Given the description of an element on the screen output the (x, y) to click on. 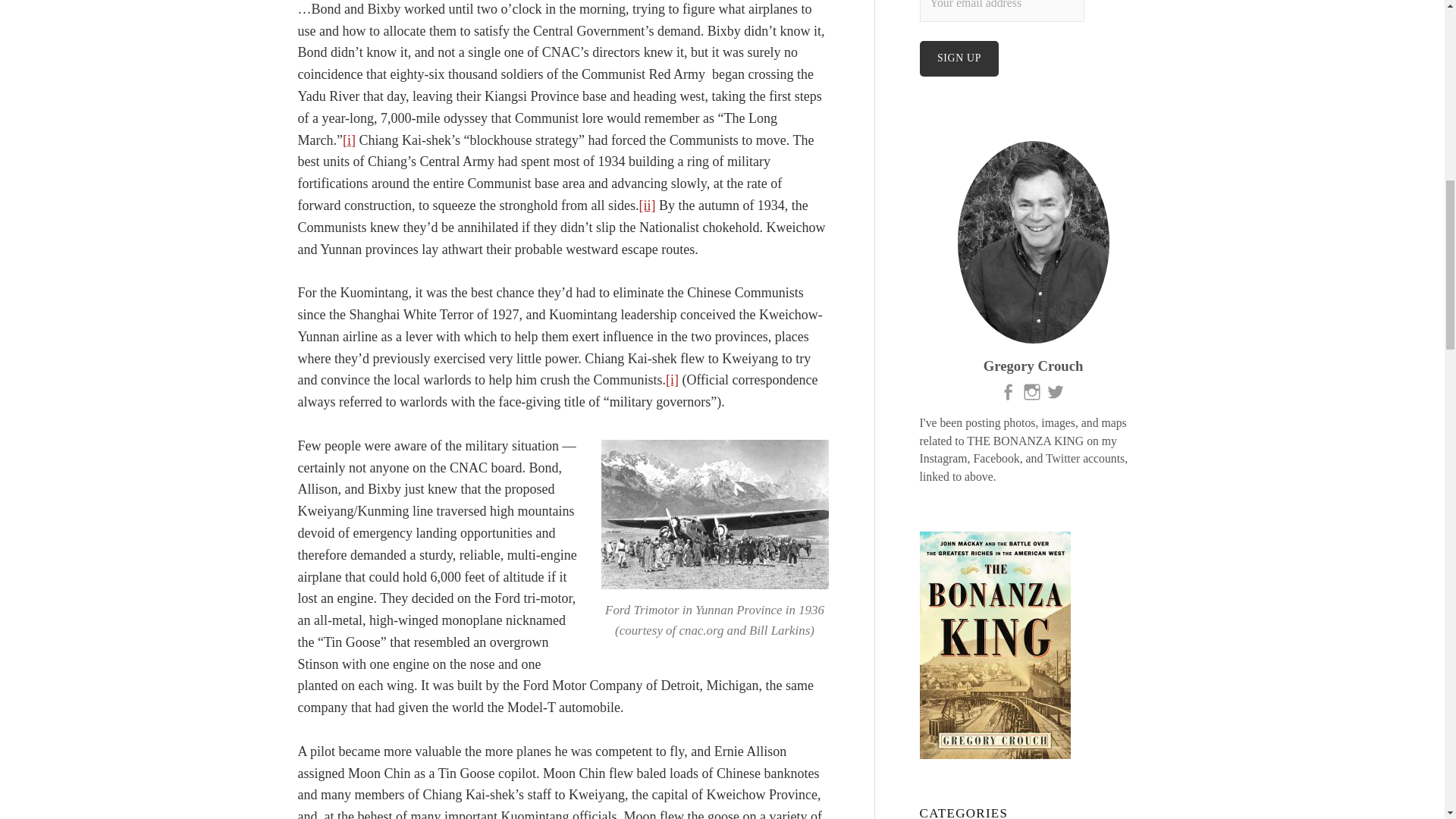
Sign up (959, 58)
FordWuadukwuadu (713, 513)
